Given the description of an element on the screen output the (x, y) to click on. 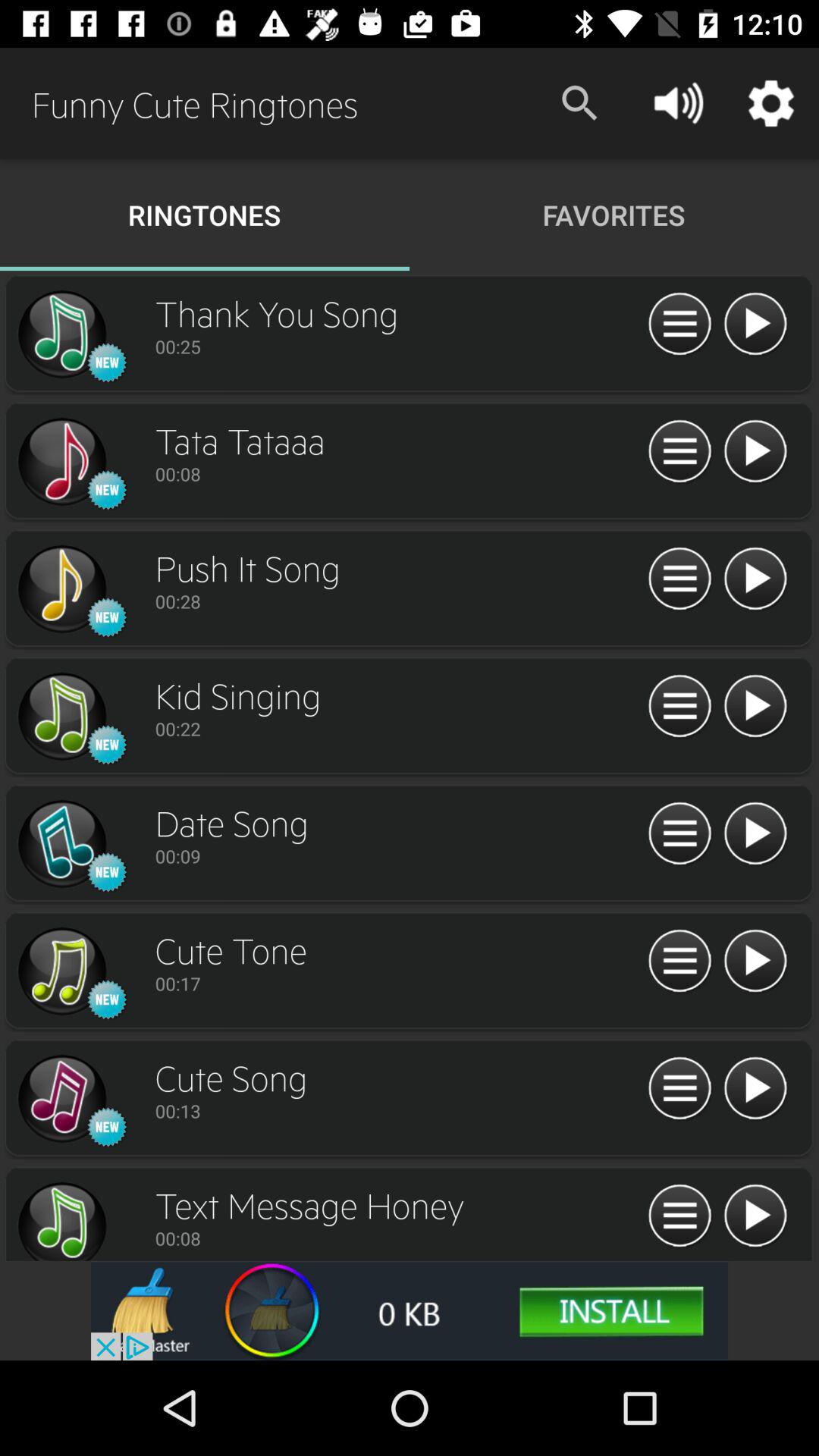
advertisement (409, 1310)
